Given the description of an element on the screen output the (x, y) to click on. 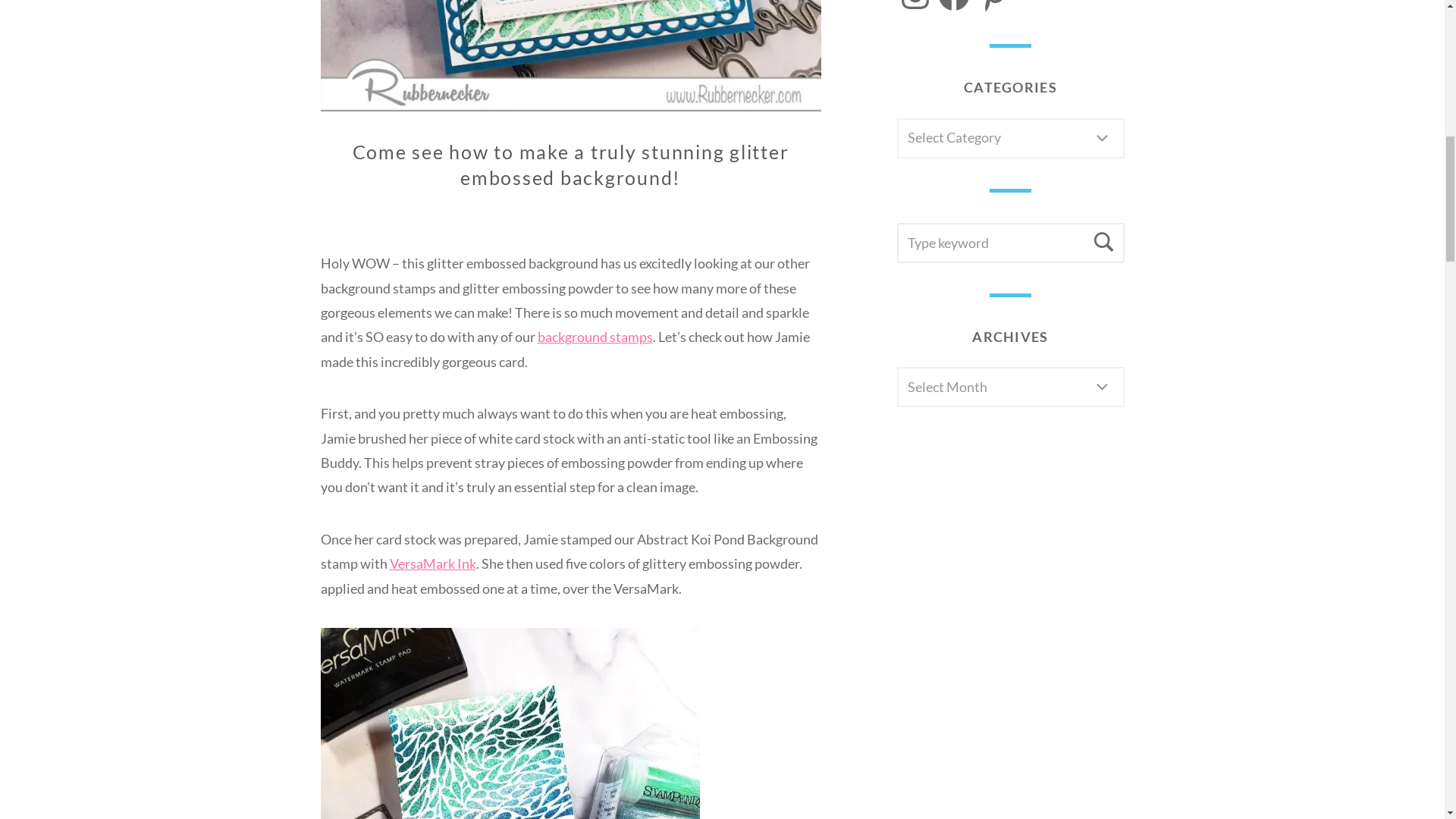
Search (1104, 242)
VersaMark Ink (433, 563)
Facebook (954, 6)
Press Enter to submit your search (1010, 242)
background stamps (594, 336)
Instagram (914, 6)
Pinterest (992, 6)
